Given the description of an element on the screen output the (x, y) to click on. 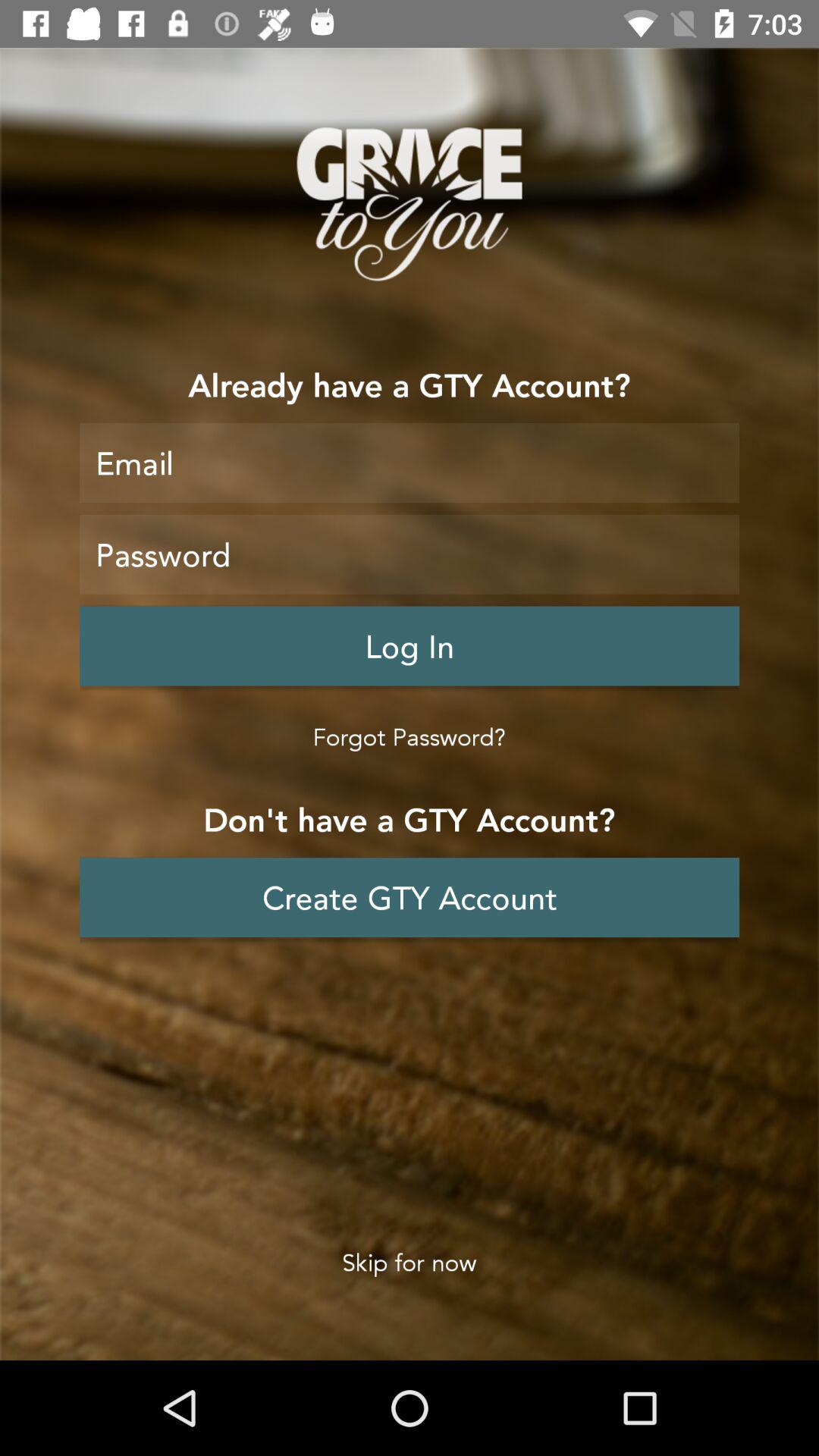
email input field (409, 462)
